Given the description of an element on the screen output the (x, y) to click on. 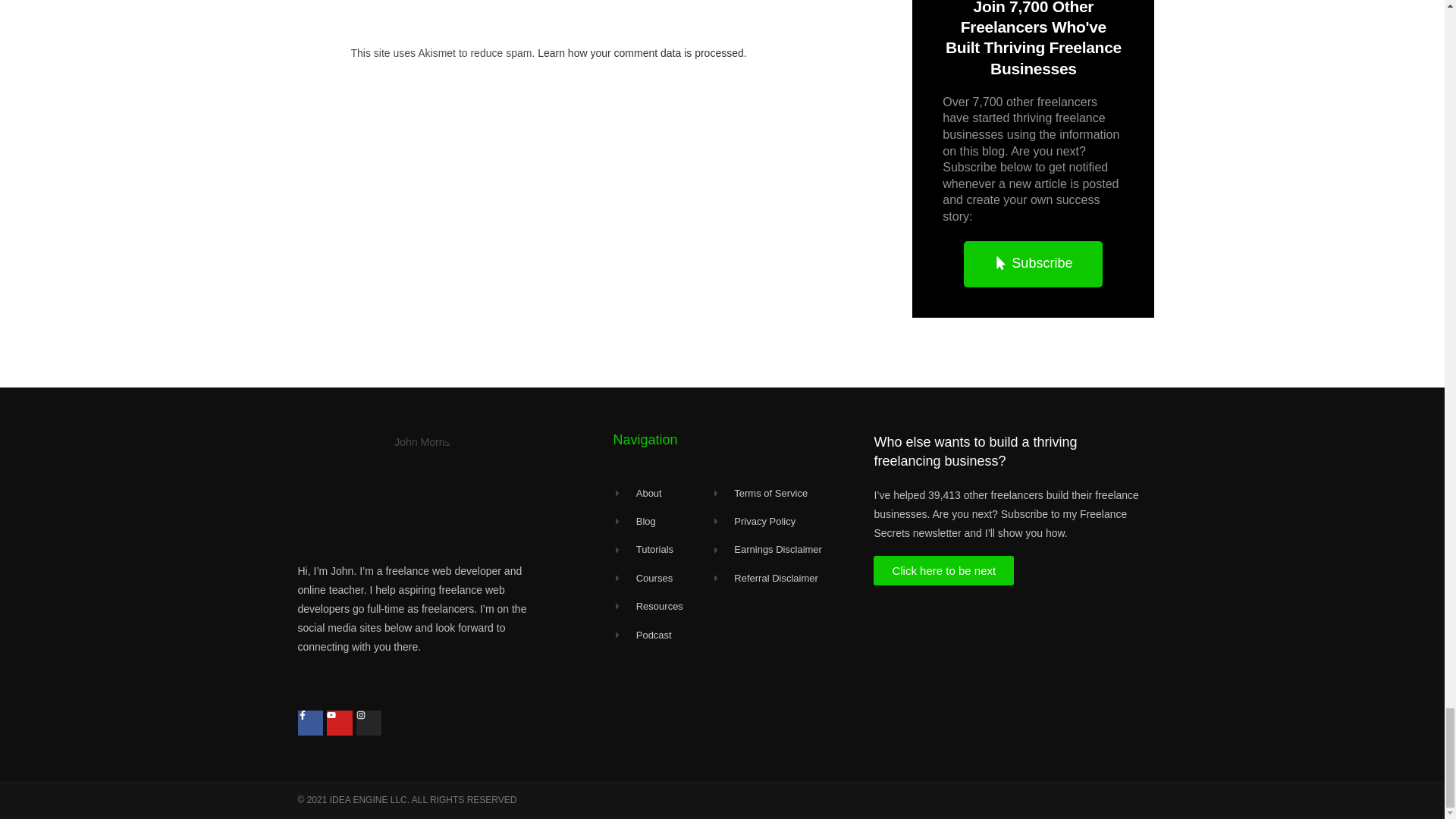
Comment Form (600, 11)
